Given the description of an element on the screen output the (x, y) to click on. 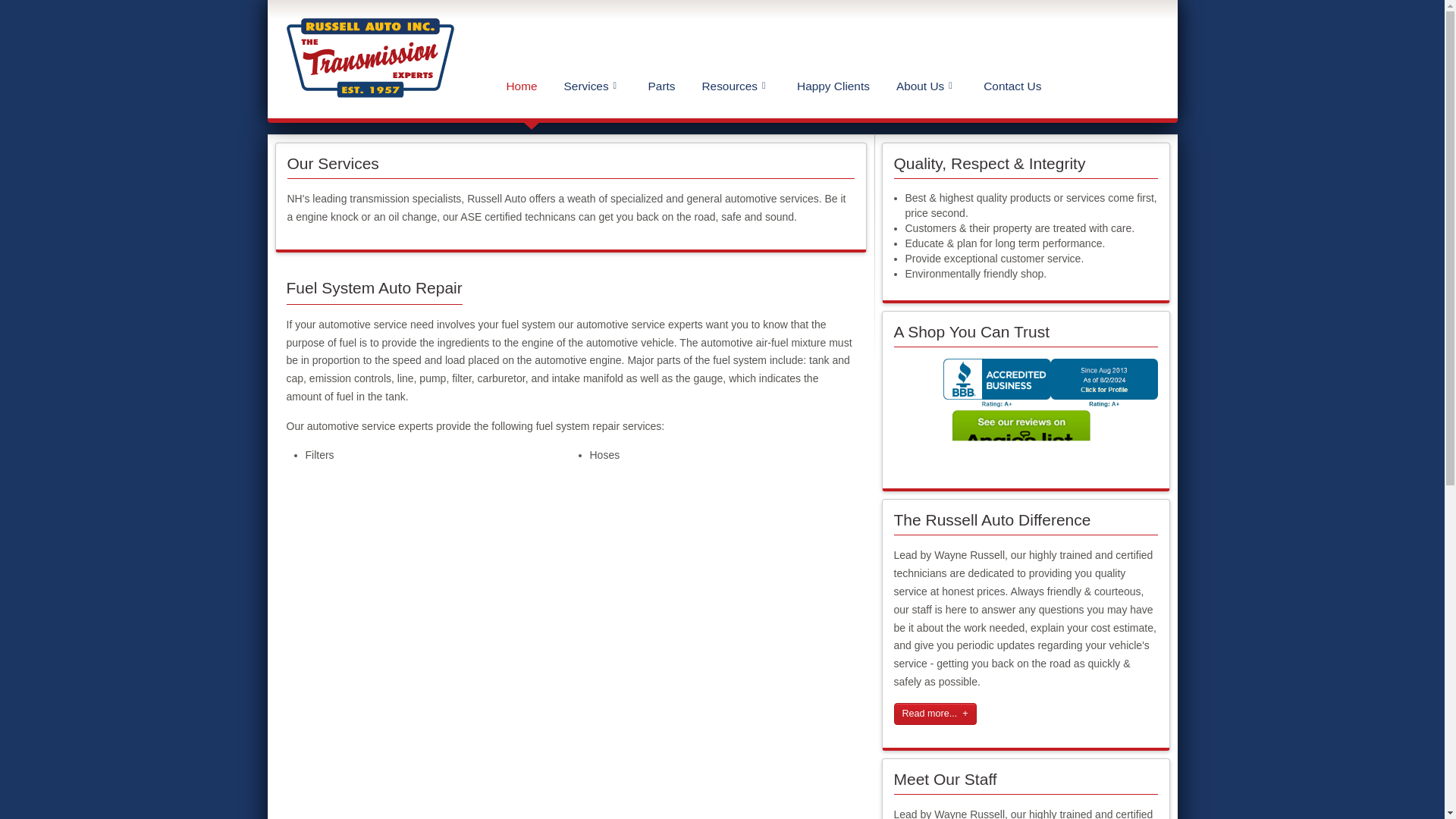
Read more... (934, 713)
Happy Clients (836, 85)
Russell Auto Inc., TransmissionsAutomobile, Manchester, NH (1050, 403)
Services (593, 85)
Contact Us (1015, 85)
About Us (926, 85)
Resources (735, 85)
